Given the description of an element on the screen output the (x, y) to click on. 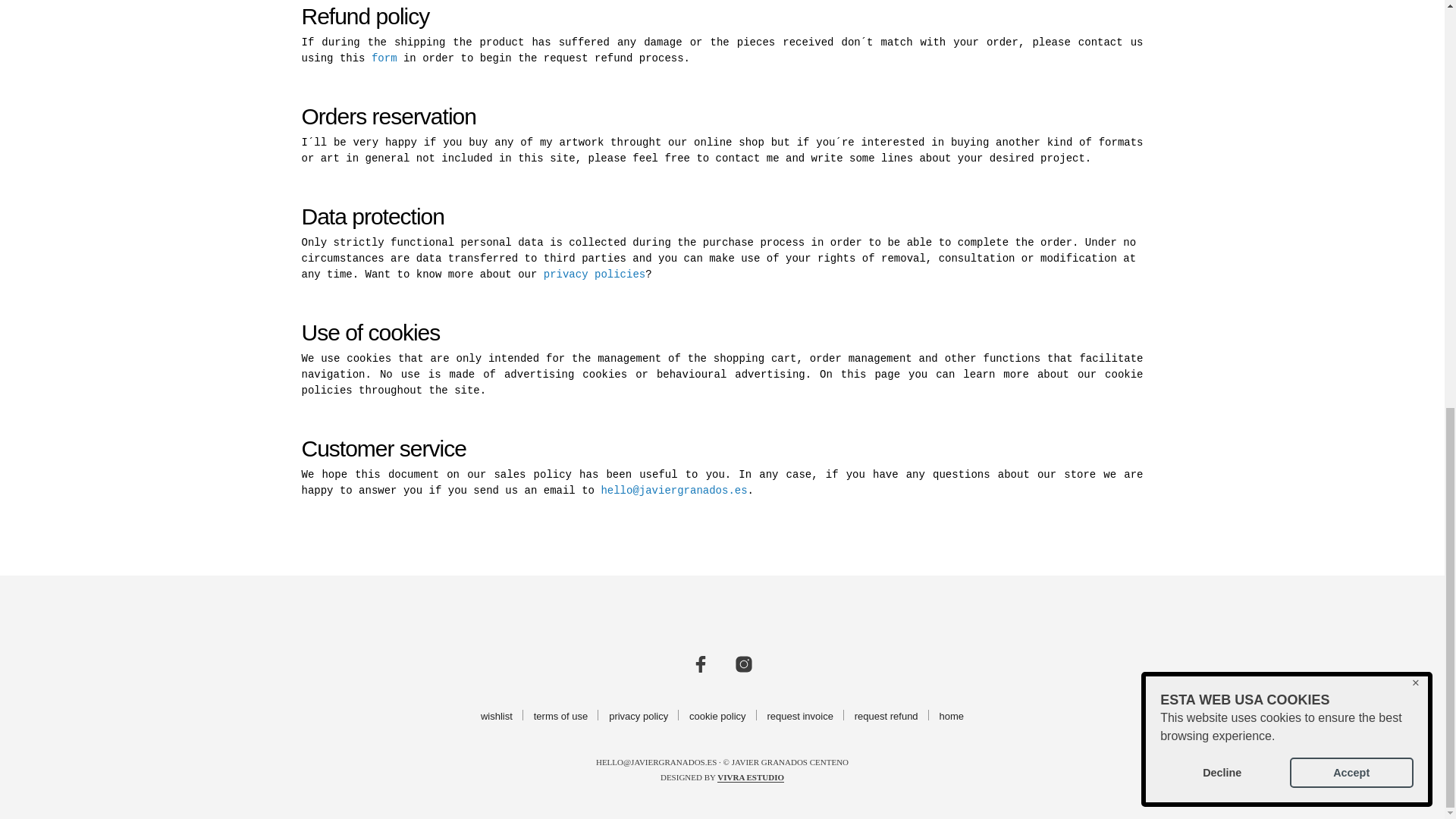
VIVRA ESTUDIO (750, 777)
home (951, 715)
privacy policies (594, 274)
wishlist (496, 715)
request invoice (799, 715)
form (384, 58)
terms of use (561, 715)
privacy policy (638, 715)
cookie policy (716, 715)
request refund (886, 715)
